Given the description of an element on the screen output the (x, y) to click on. 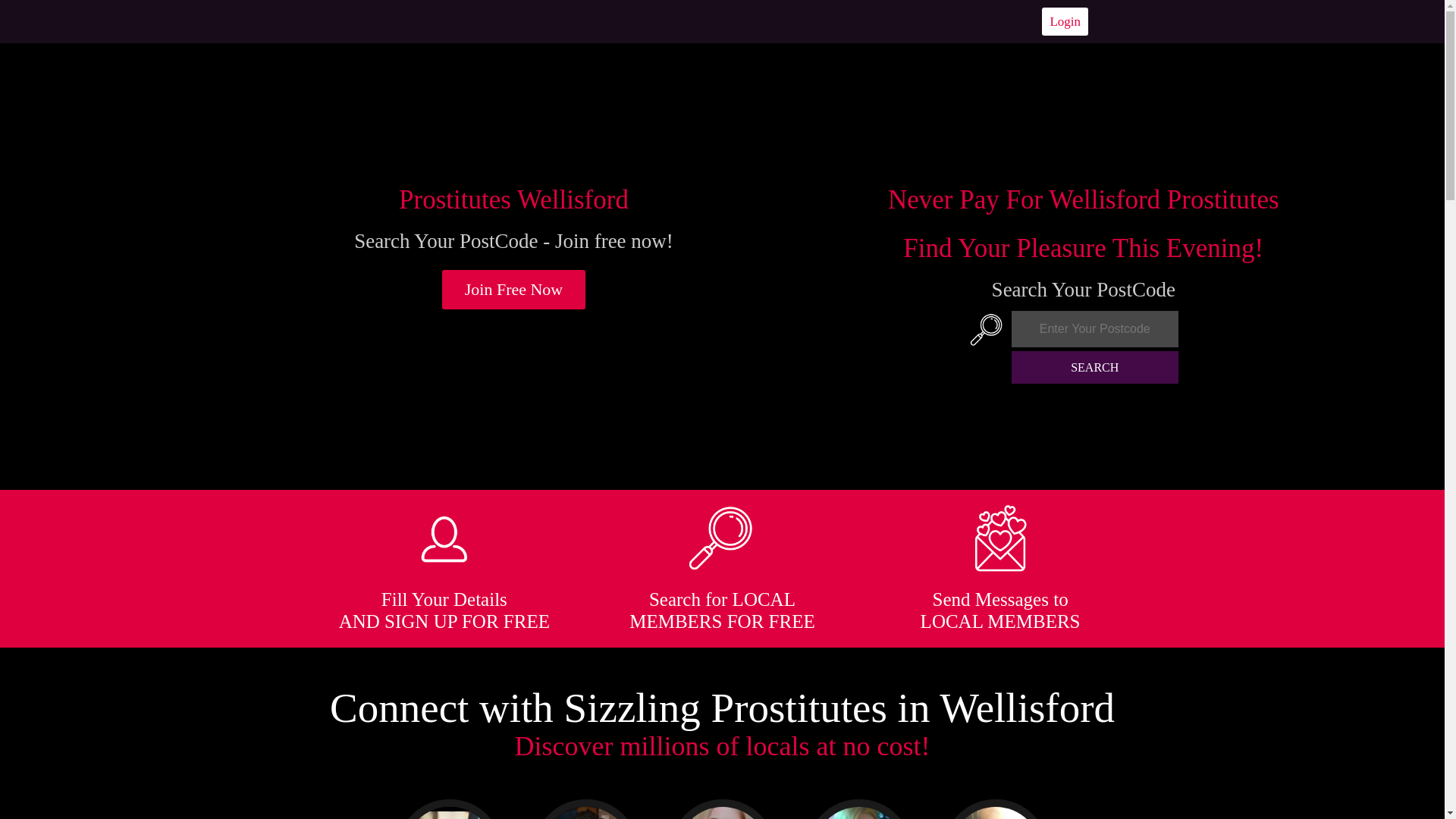
Join (514, 289)
SEARCH (1094, 367)
Join Free Now (514, 289)
Login (1064, 21)
Login (1064, 21)
